Given the description of an element on the screen output the (x, y) to click on. 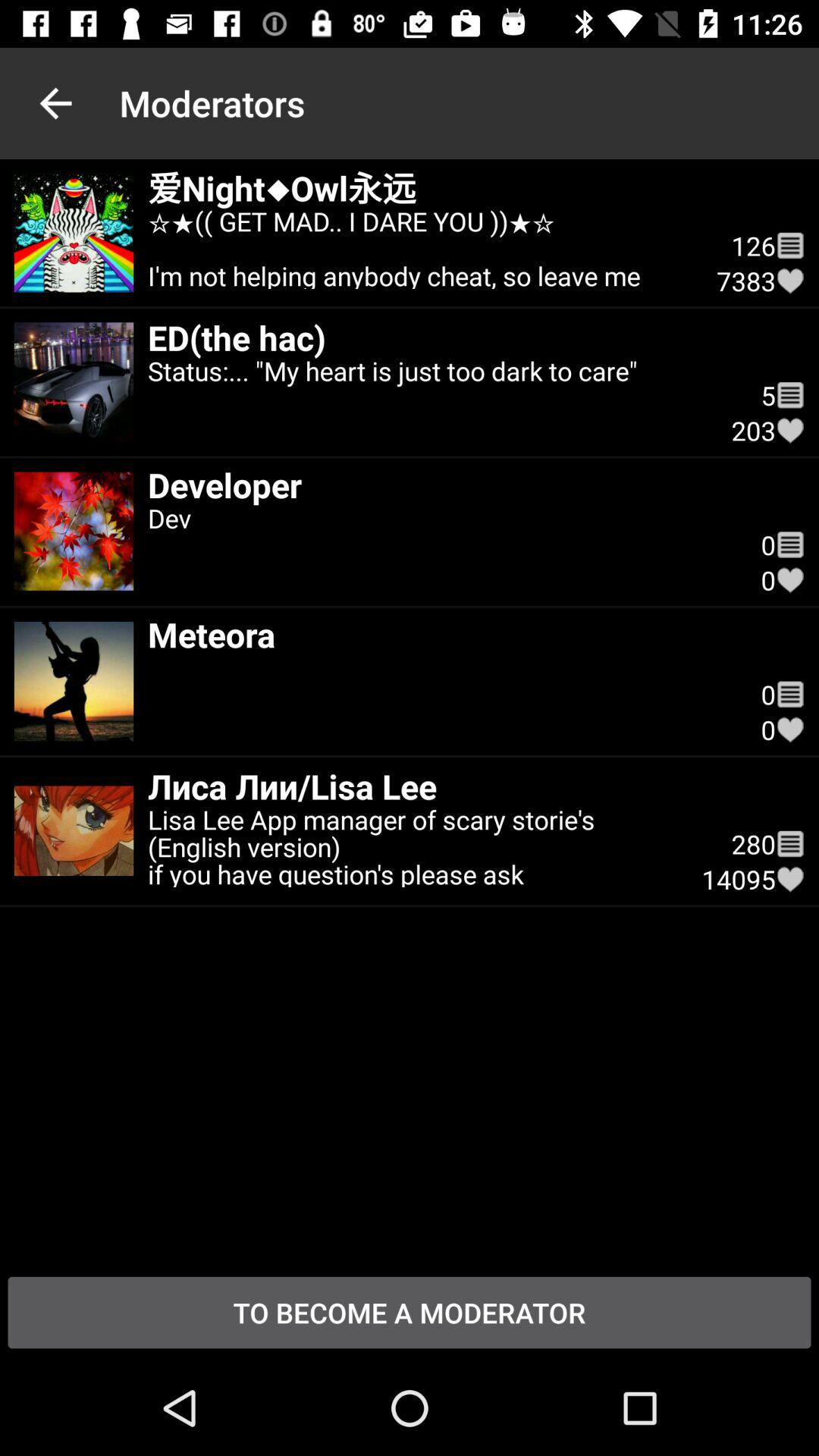
choose app to the left of the moderators (55, 103)
